Given the description of an element on the screen output the (x, y) to click on. 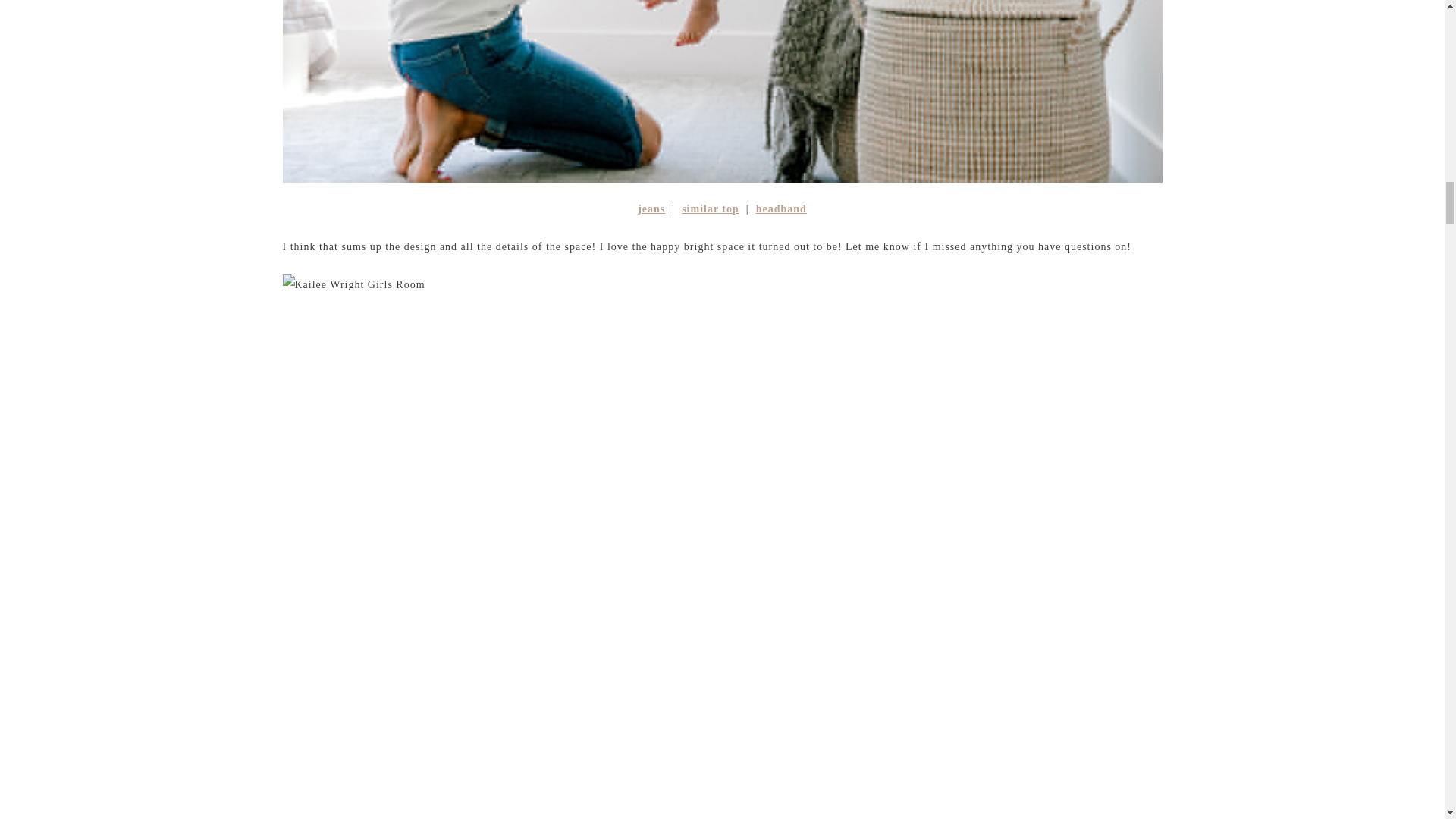
jeans (651, 208)
similar top (710, 208)
headband (780, 208)
